Given the description of an element on the screen output the (x, y) to click on. 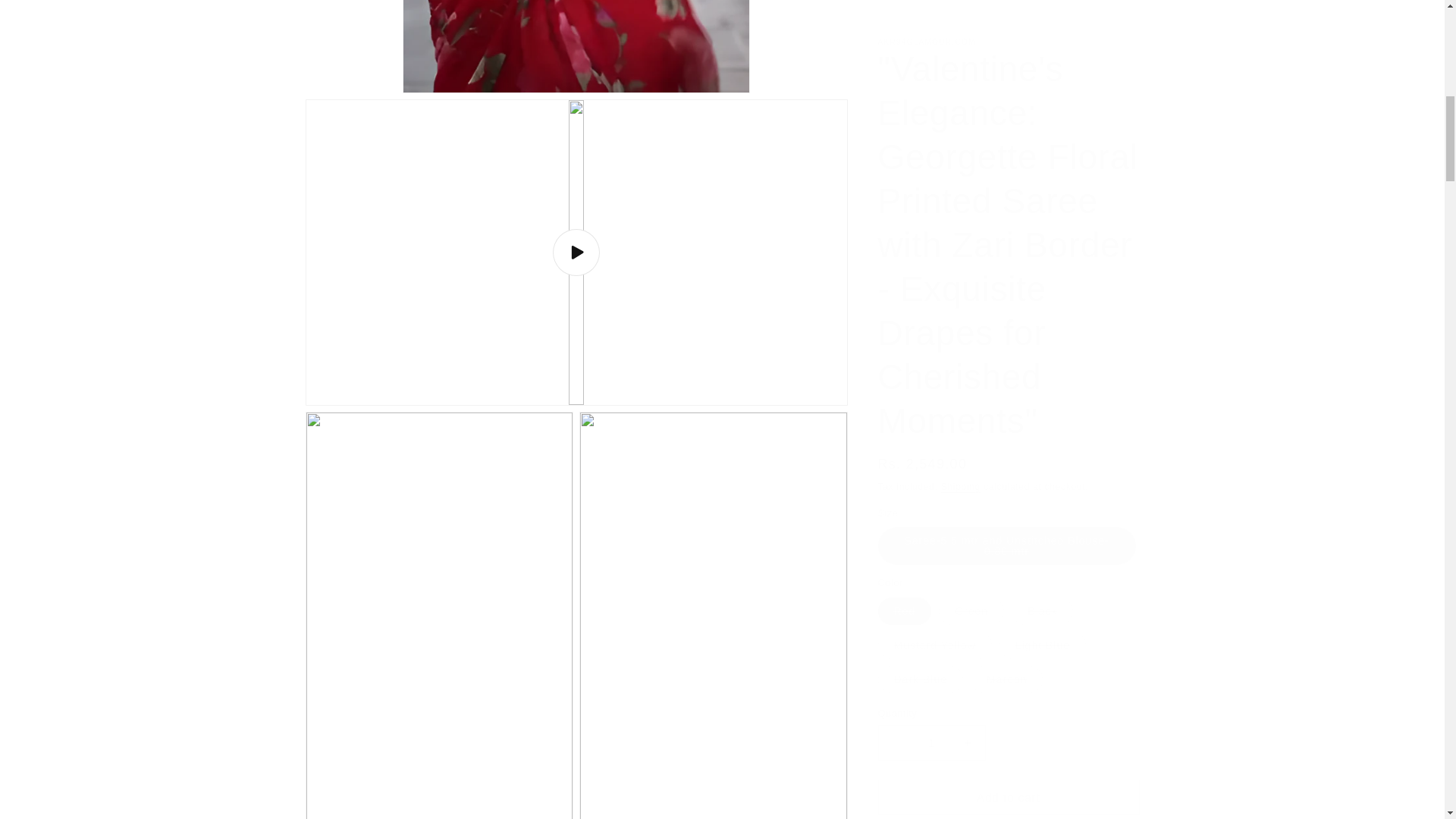
1 (931, 109)
Open media 1 in modal (575, 38)
